Given the description of an element on the screen output the (x, y) to click on. 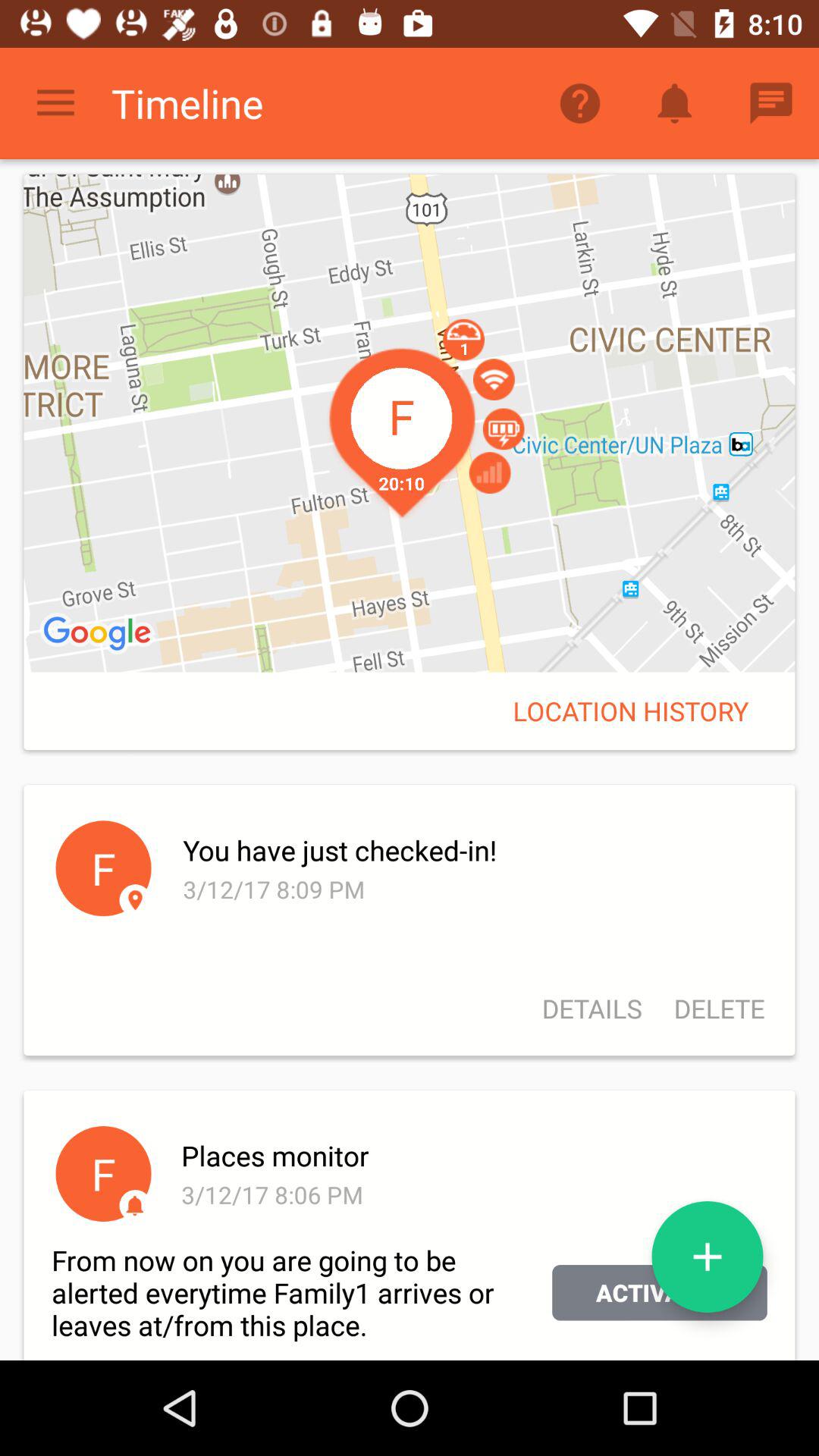
click item next to the f item (473, 850)
